Given the description of an element on the screen output the (x, y) to click on. 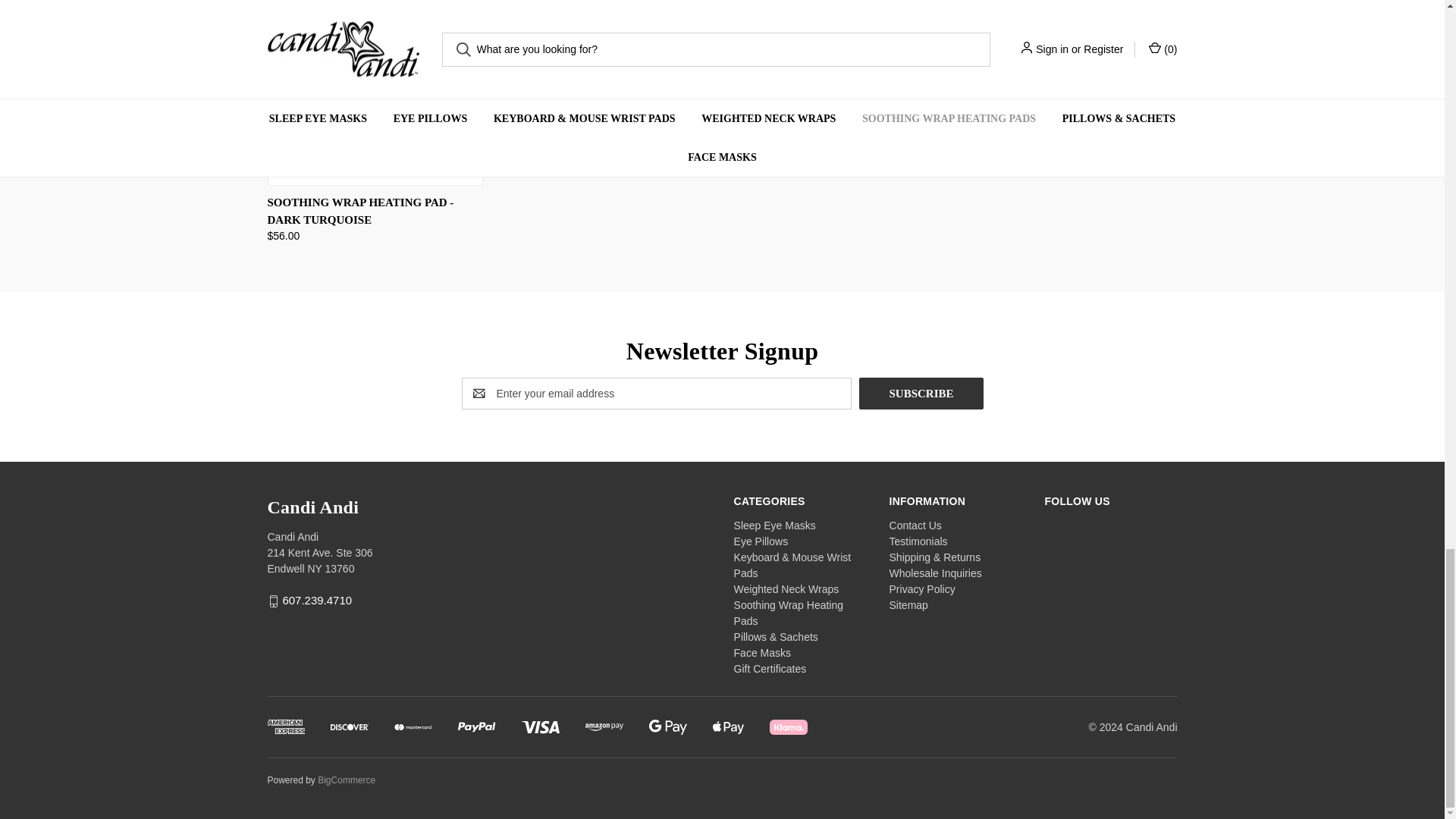
Soothing Wrap Heating Pad - Dark Turquoise (374, 91)
Subscribe (920, 393)
